Given the description of an element on the screen output the (x, y) to click on. 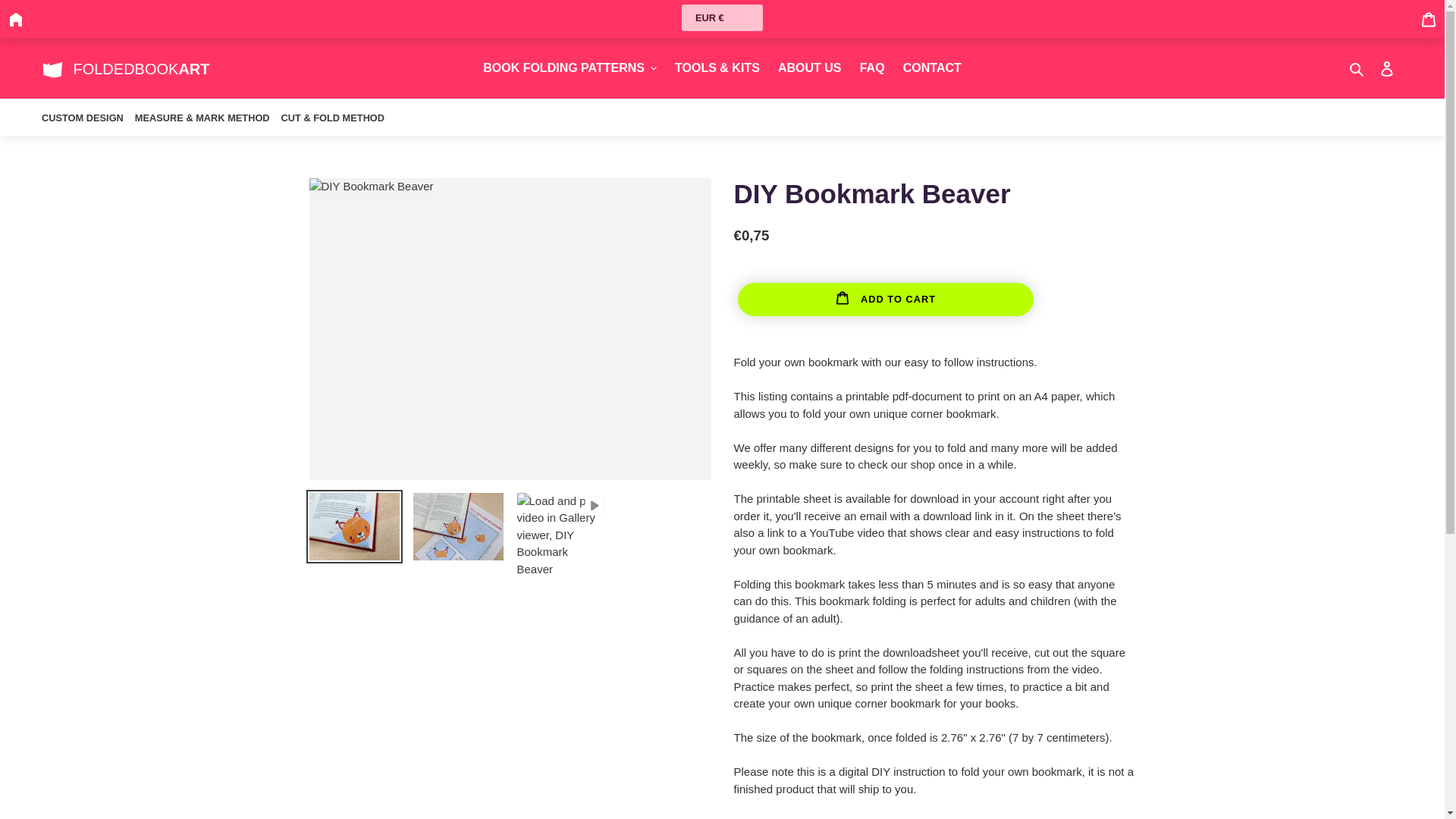
Log in (1387, 68)
FOLDEDBOOKART (125, 67)
Search (1357, 67)
BOOK FOLDING PATTERNS (569, 67)
ABOUT US (809, 67)
FAQ (871, 67)
CONTACT (932, 67)
